Given the description of an element on the screen output the (x, y) to click on. 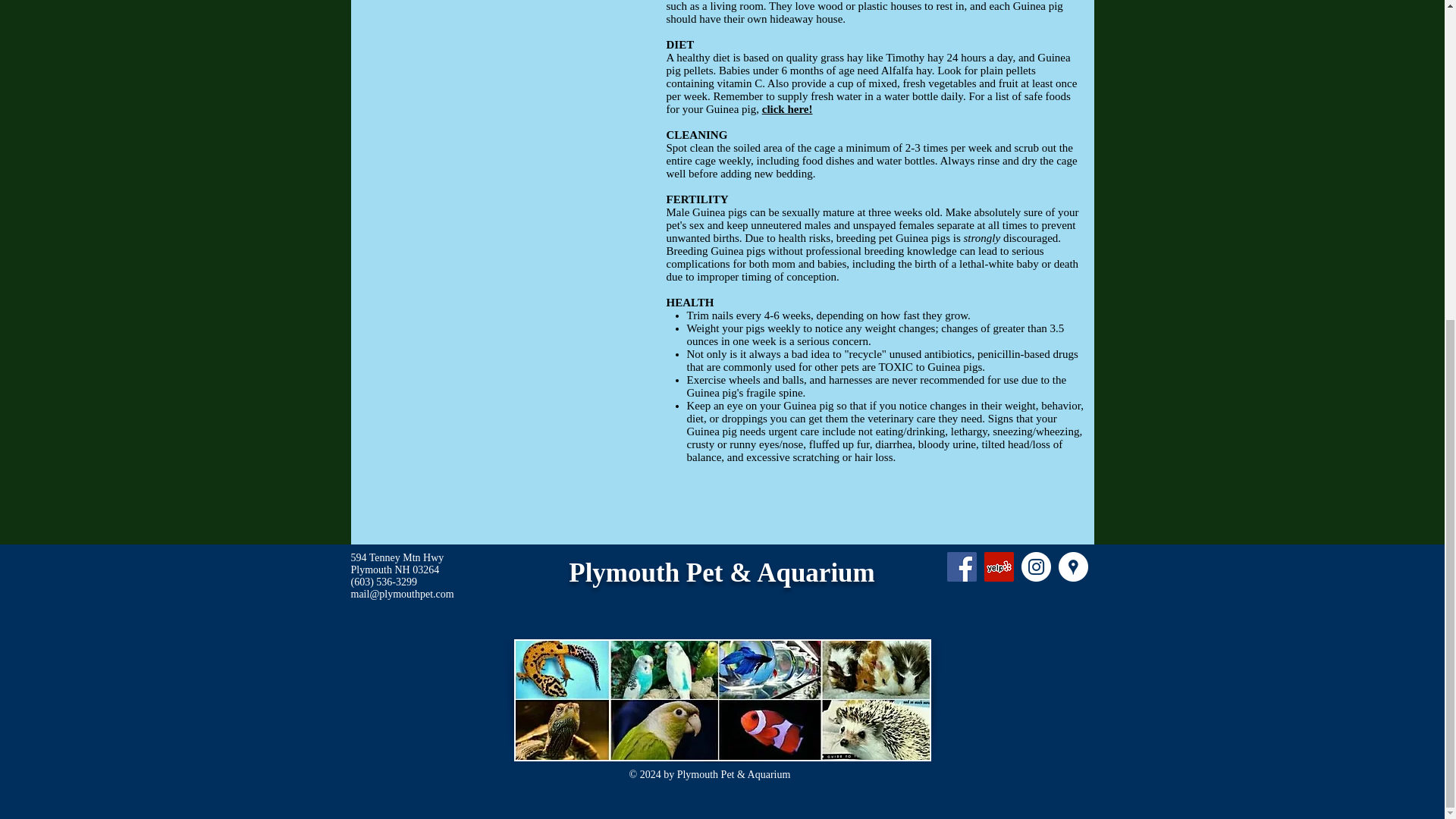
click here! (786, 109)
